Given the description of an element on the screen output the (x, y) to click on. 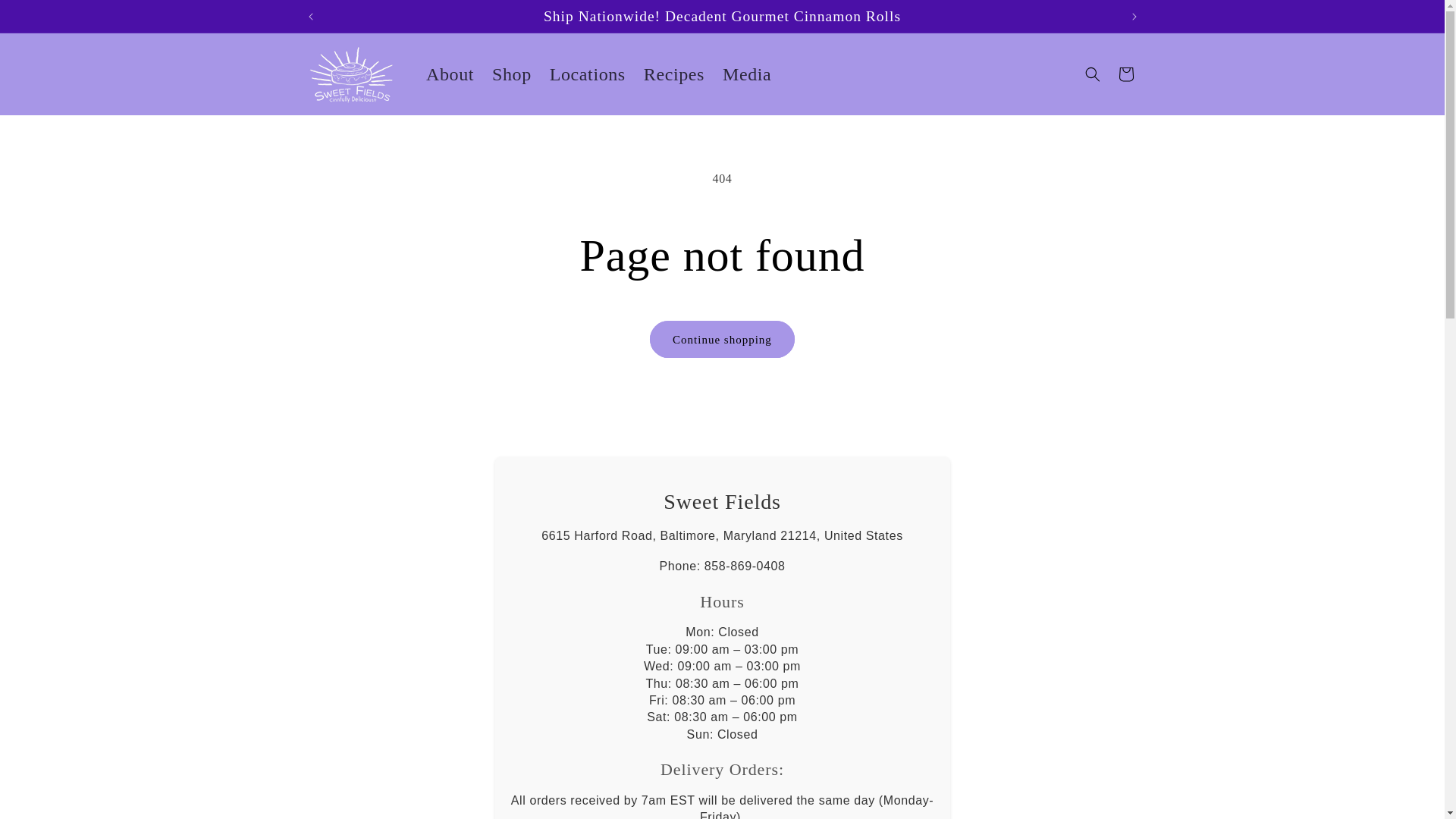
Continue shopping (721, 339)
Cart (1124, 73)
Recipes (673, 74)
Shop (511, 74)
Media (746, 74)
About (449, 74)
Locations (587, 74)
Skip to content (46, 18)
